Given the description of an element on the screen output the (x, y) to click on. 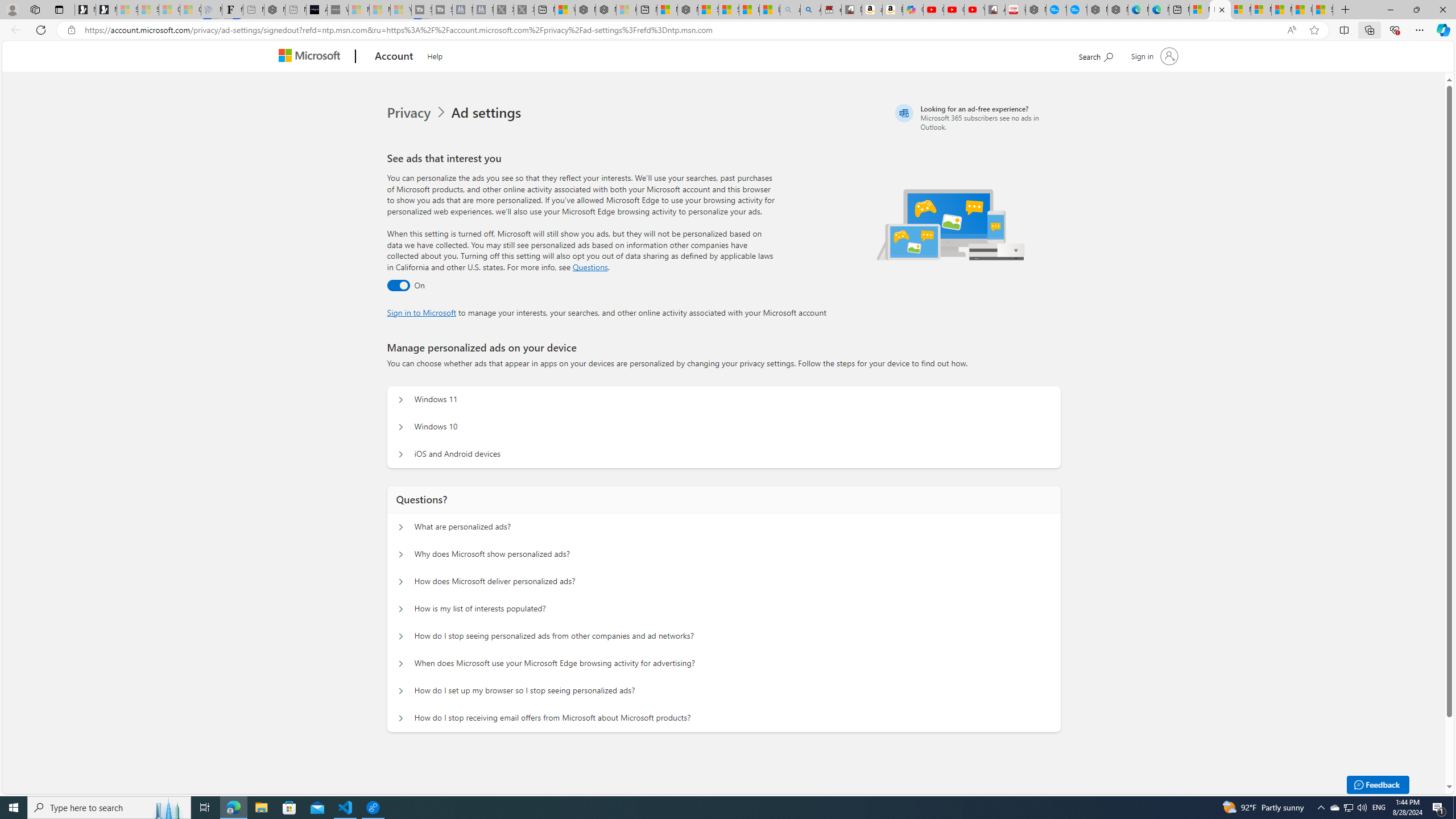
Questions? How does Microsoft deliver personalized ads? (401, 581)
I Gained 20 Pounds of Muscle in 30 Days! | Watch (1302, 9)
